Given the description of an element on the screen output the (x, y) to click on. 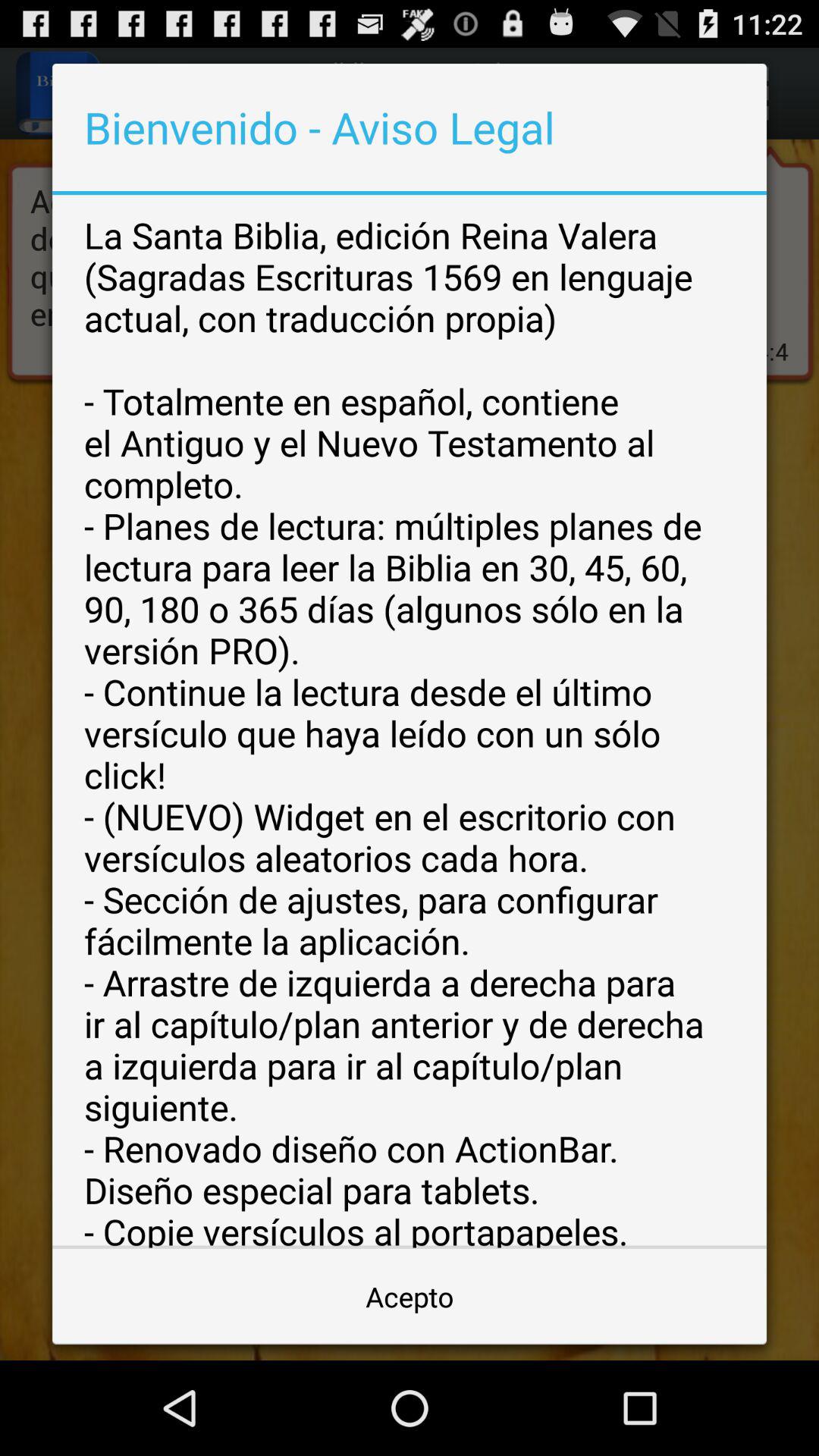
turn on the app below the la santa biblia app (409, 1296)
